Given the description of an element on the screen output the (x, y) to click on. 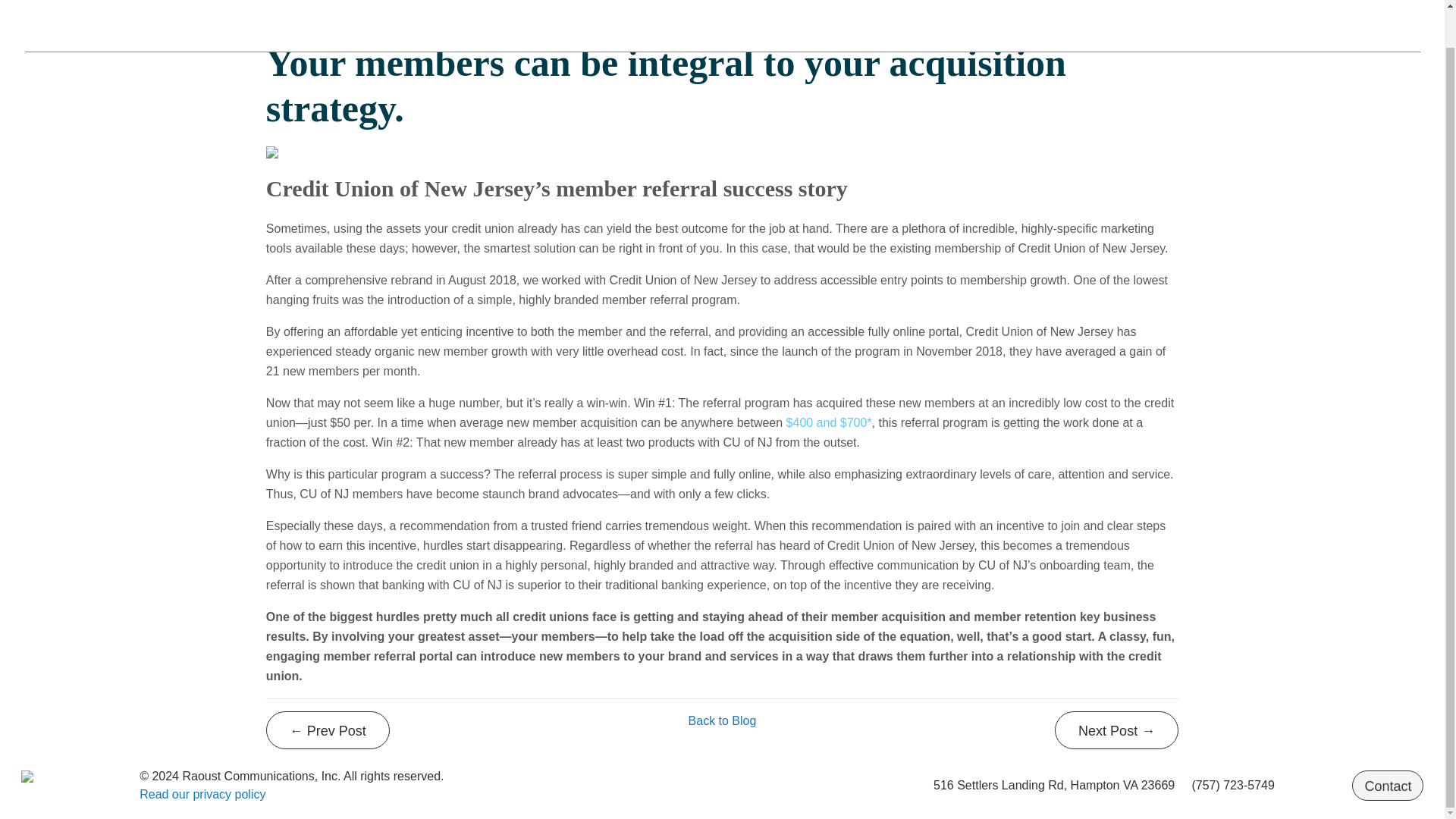
Back to Blog (722, 720)
Contact (1387, 785)
An opportunity presents itself. (328, 730)
Read our privacy policy (201, 793)
Giving hope. (1115, 730)
